Given the description of an element on the screen output the (x, y) to click on. 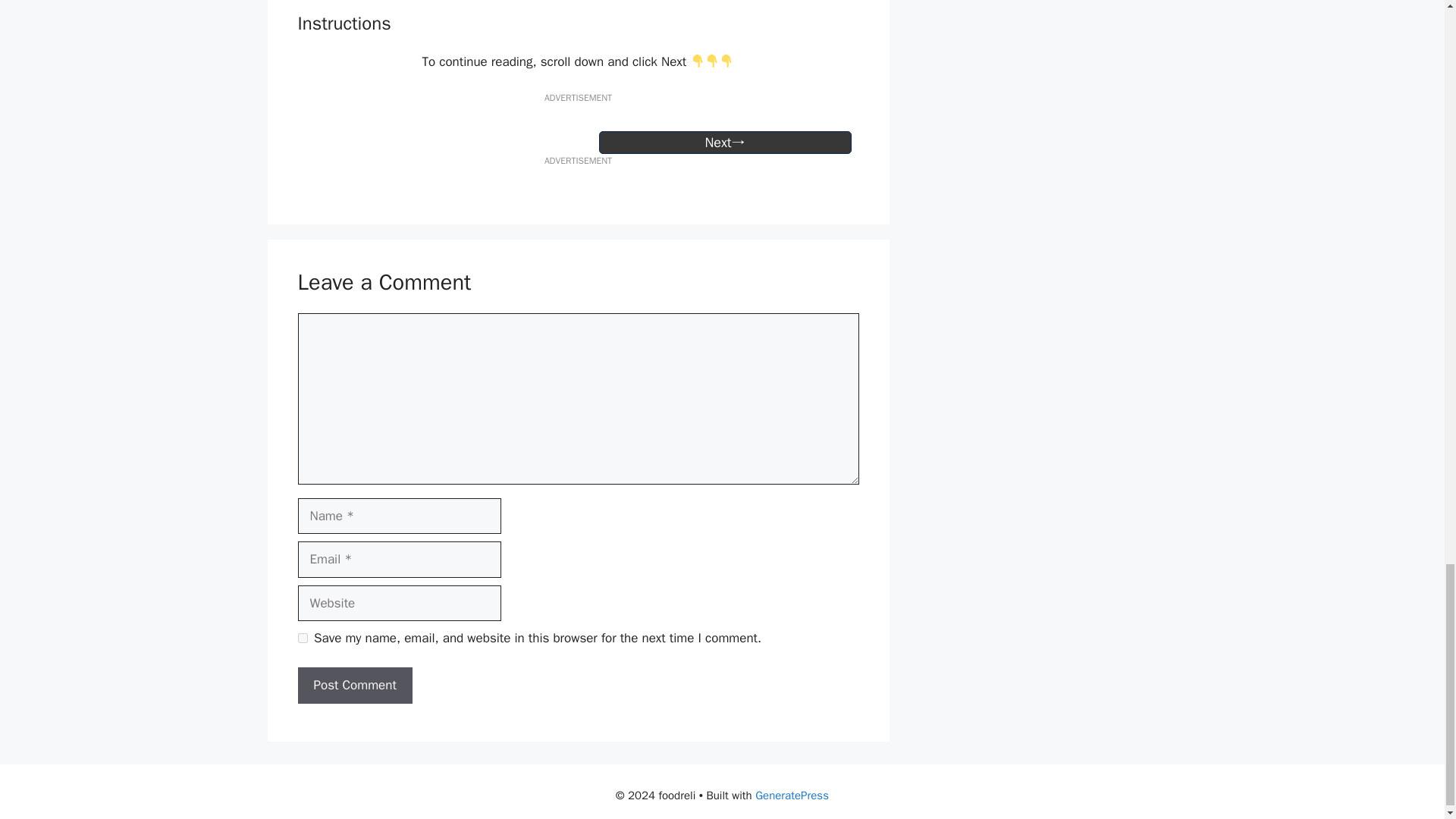
Post Comment (354, 685)
GeneratePress (791, 795)
Post Comment (354, 685)
yes (302, 637)
